Given the description of an element on the screen output the (x, y) to click on. 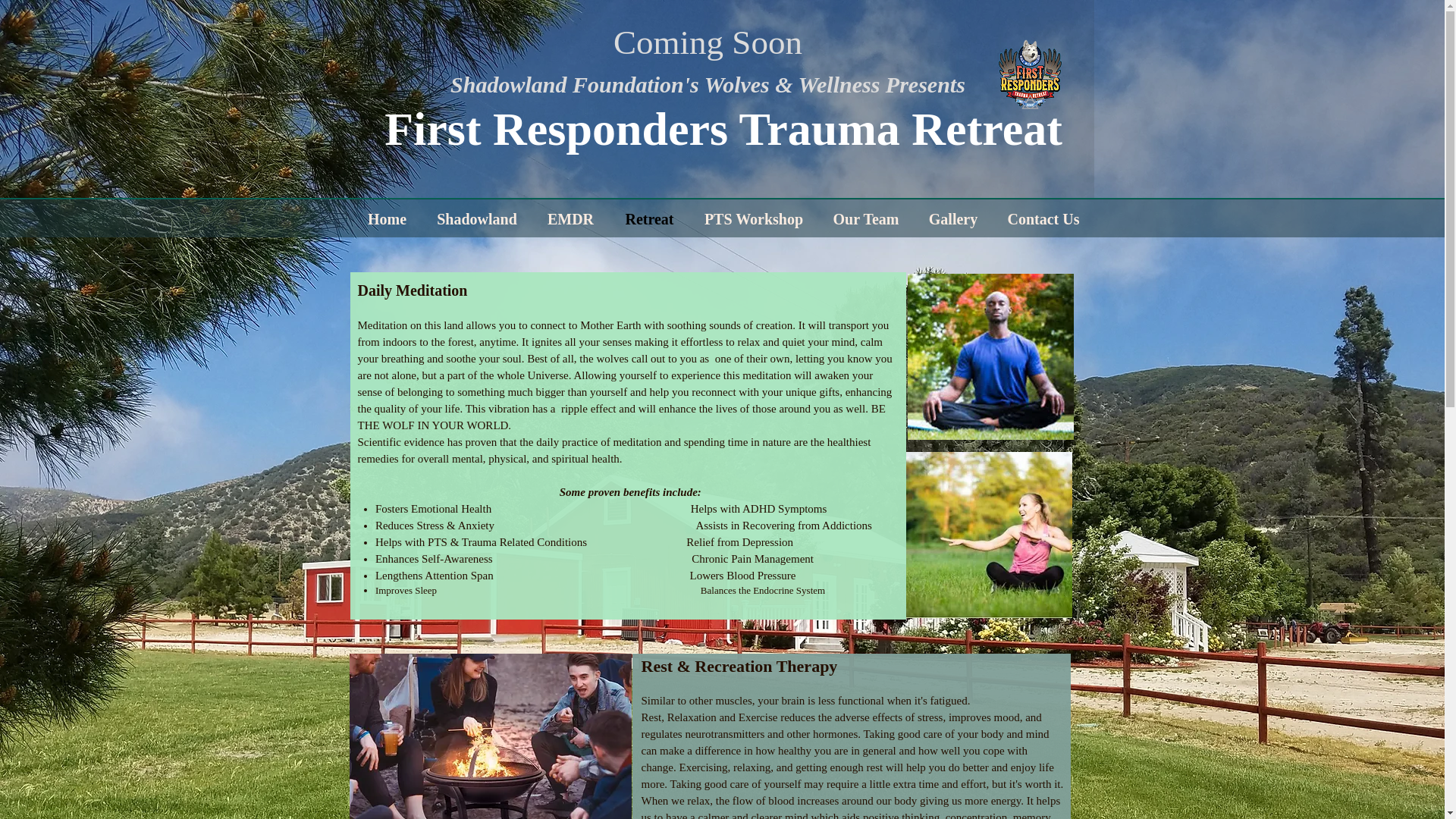
Retreat (650, 218)
Contact Us (1042, 218)
Shadowland (476, 218)
EMDR (571, 218)
brain is less functional (831, 700)
PTS Workshop (754, 218)
Home (387, 218)
Gallery (953, 218)
FRTRheroWEB-transpBG.png (1029, 75)
Our Team (865, 218)
